Given the description of an element on the screen output the (x, y) to click on. 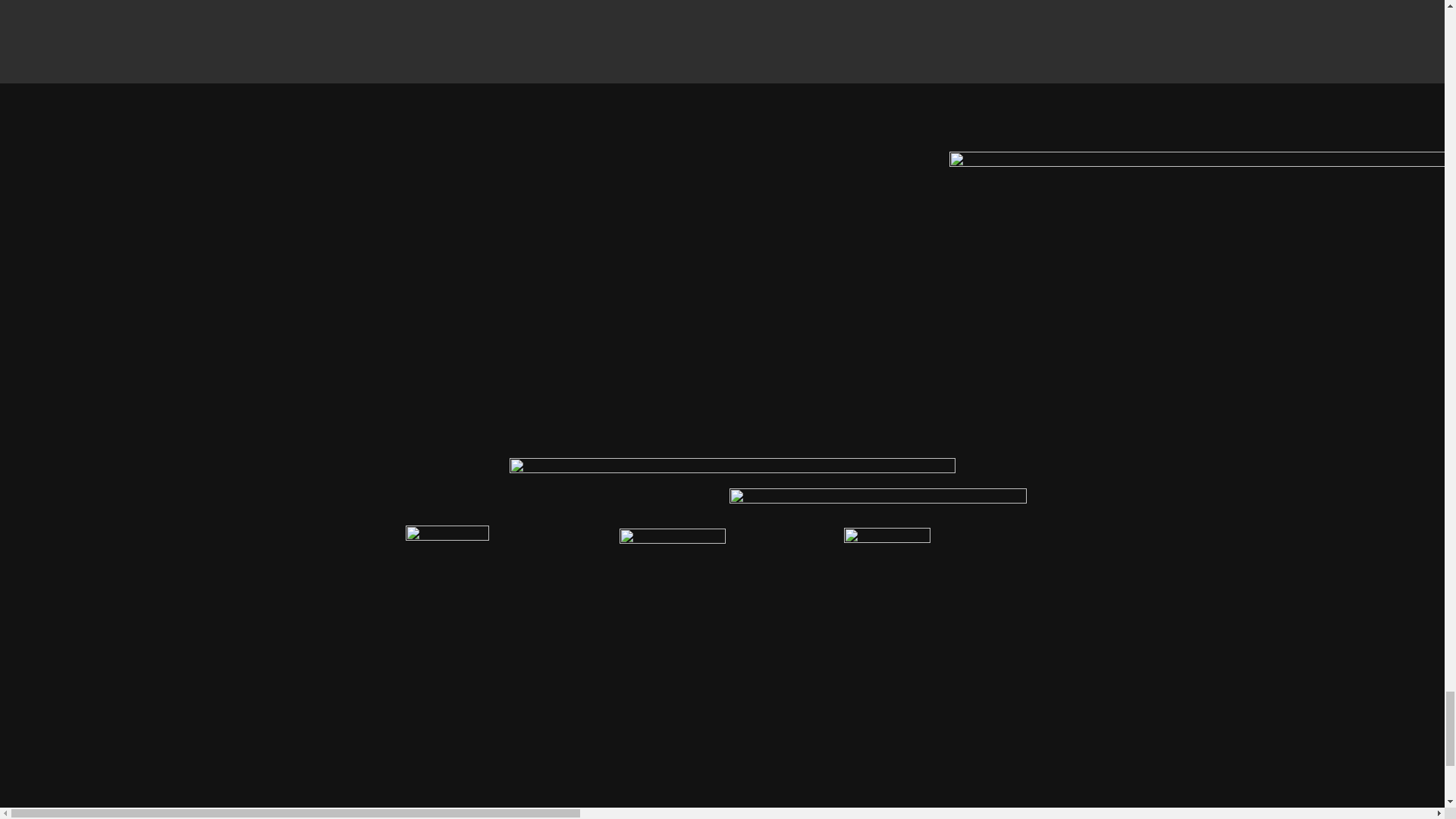
PREVIOUS (505, 3)
NEXT (938, 3)
